Given the description of an element on the screen output the (x, y) to click on. 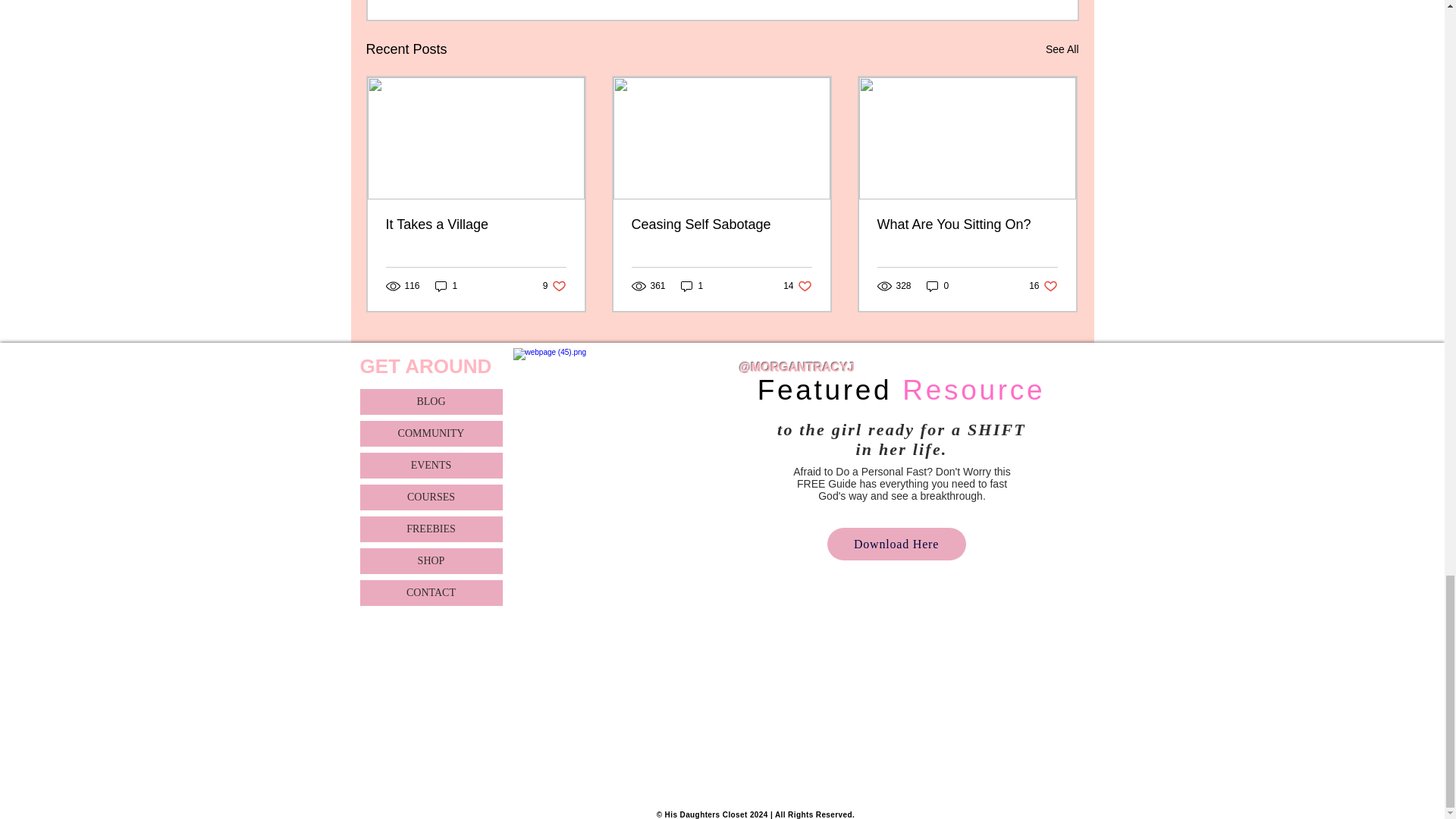
See All (1061, 49)
1 (446, 286)
It Takes a Village (475, 224)
